Given the description of an element on the screen output the (x, y) to click on. 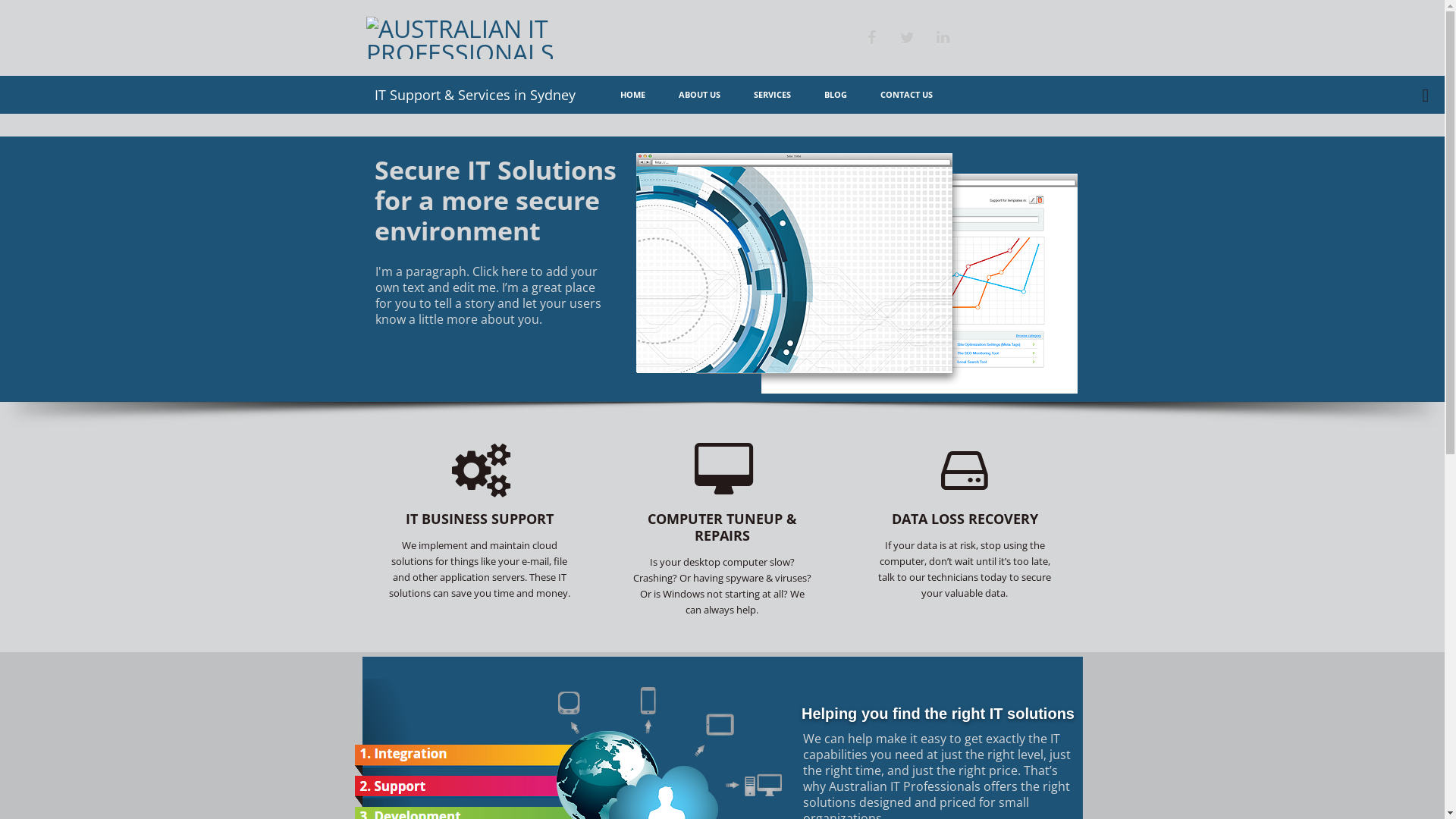
SERVICES Element type: text (771, 94)
CONTACT US Element type: text (906, 94)
ABOUT US Element type: text (699, 94)
HOME Element type: text (632, 94)
BLOG Element type: text (835, 94)
